Given the description of an element on the screen output the (x, y) to click on. 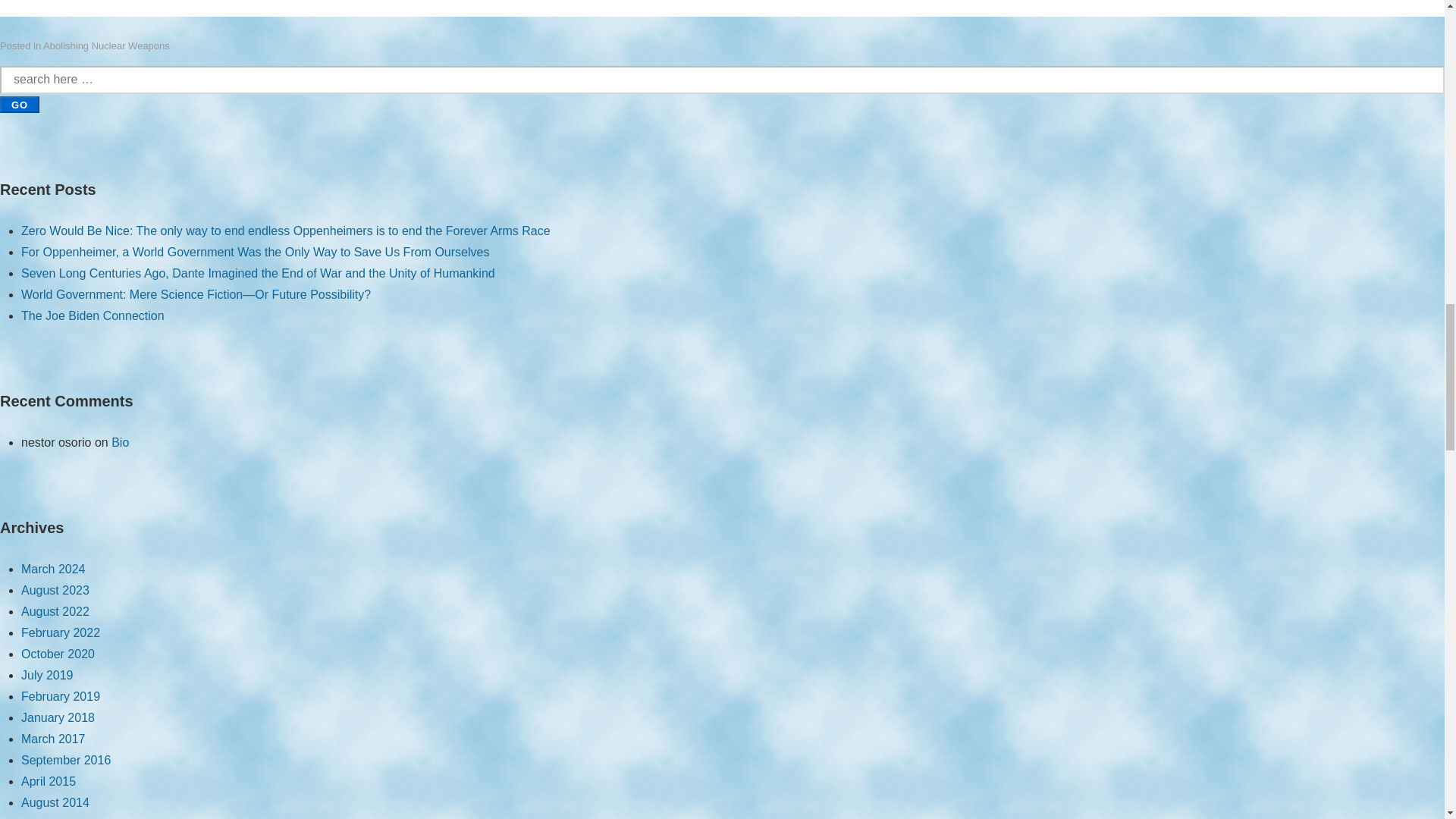
Bio (120, 441)
The Joe Biden Connection (92, 315)
February 2019 (60, 696)
February 2022 (60, 632)
Go (19, 104)
July 2019 (47, 675)
Go (19, 104)
